Given the description of an element on the screen output the (x, y) to click on. 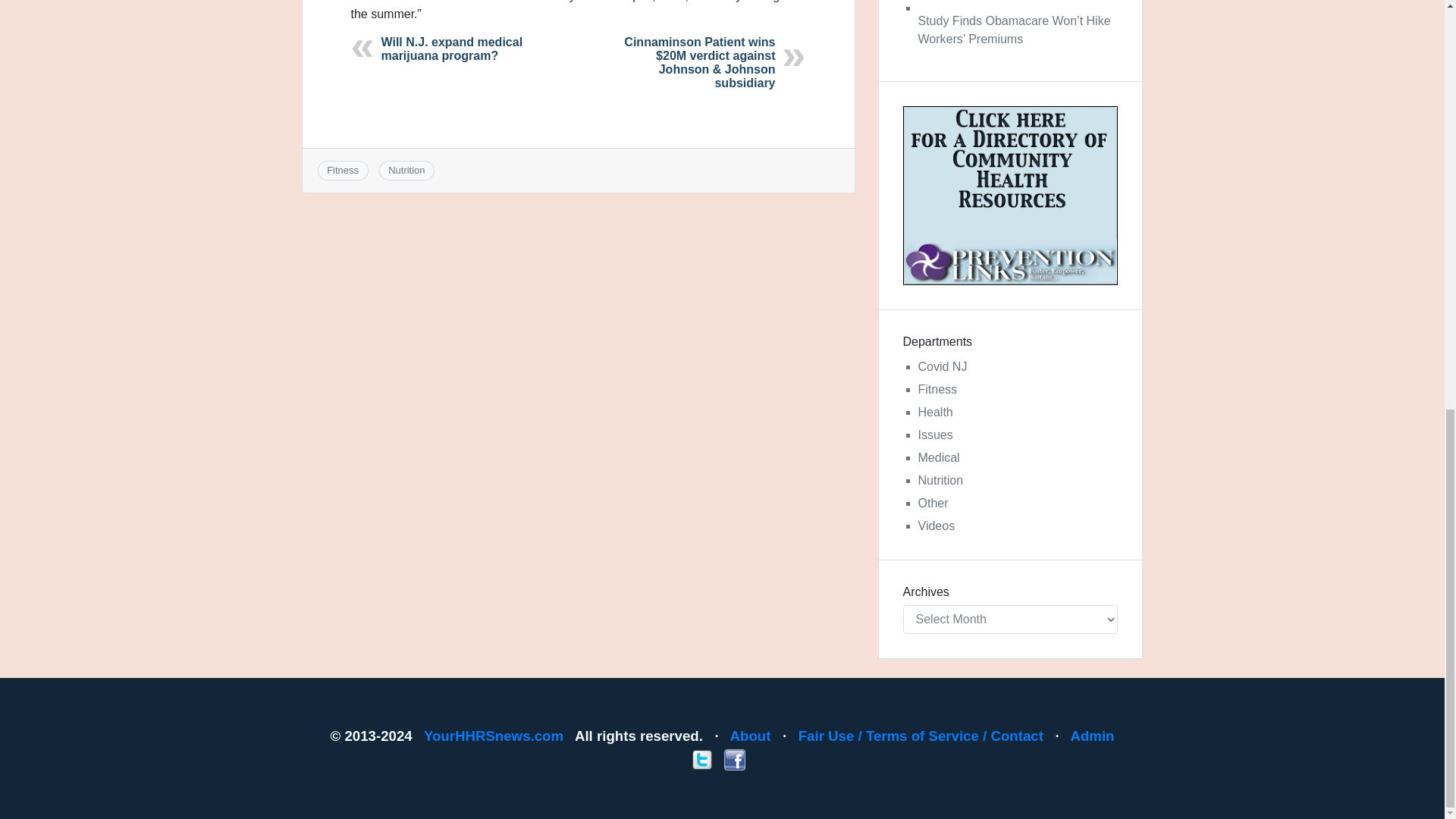
Fitness (342, 170)
Covid NJ (941, 366)
Fitness (936, 389)
Admin (1091, 735)
Nutrition (939, 480)
Health (934, 411)
About (750, 735)
Videos (936, 525)
Nutrition (406, 170)
Will N.J. expand medical marijuana program? (451, 49)
YourHHRSnews.com (493, 735)
Other (932, 502)
Issues (934, 434)
Medical (938, 457)
